Given the description of an element on the screen output the (x, y) to click on. 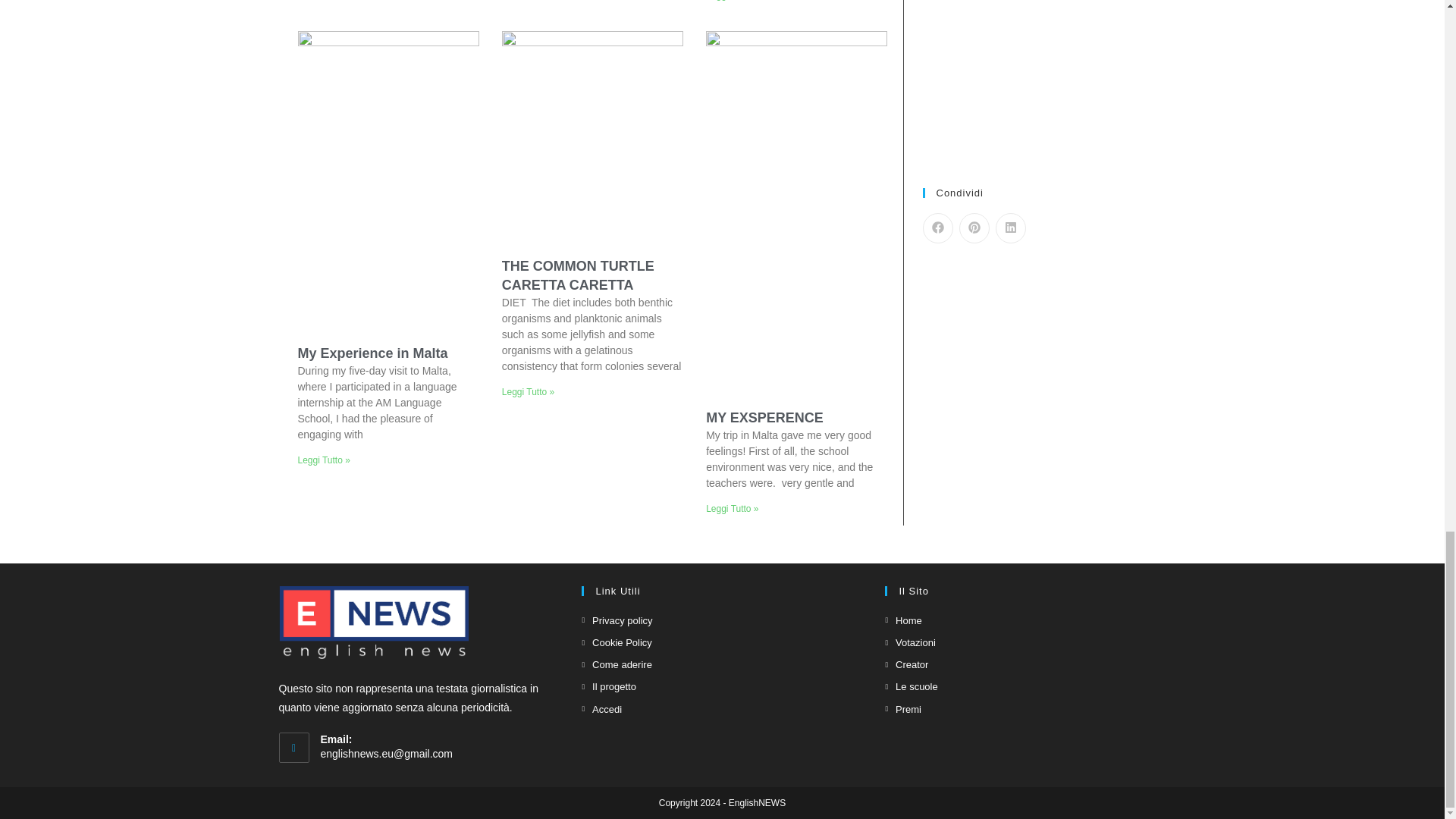
My Experience in Malta (371, 353)
MY EXSPERENCE (765, 417)
Share on LinkedIn (1009, 227)
Share on Pinterest (973, 227)
Share on Facebook (936, 227)
THE COMMON TURTLE CARETTA CARETTA (577, 275)
